Given the description of an element on the screen output the (x, y) to click on. 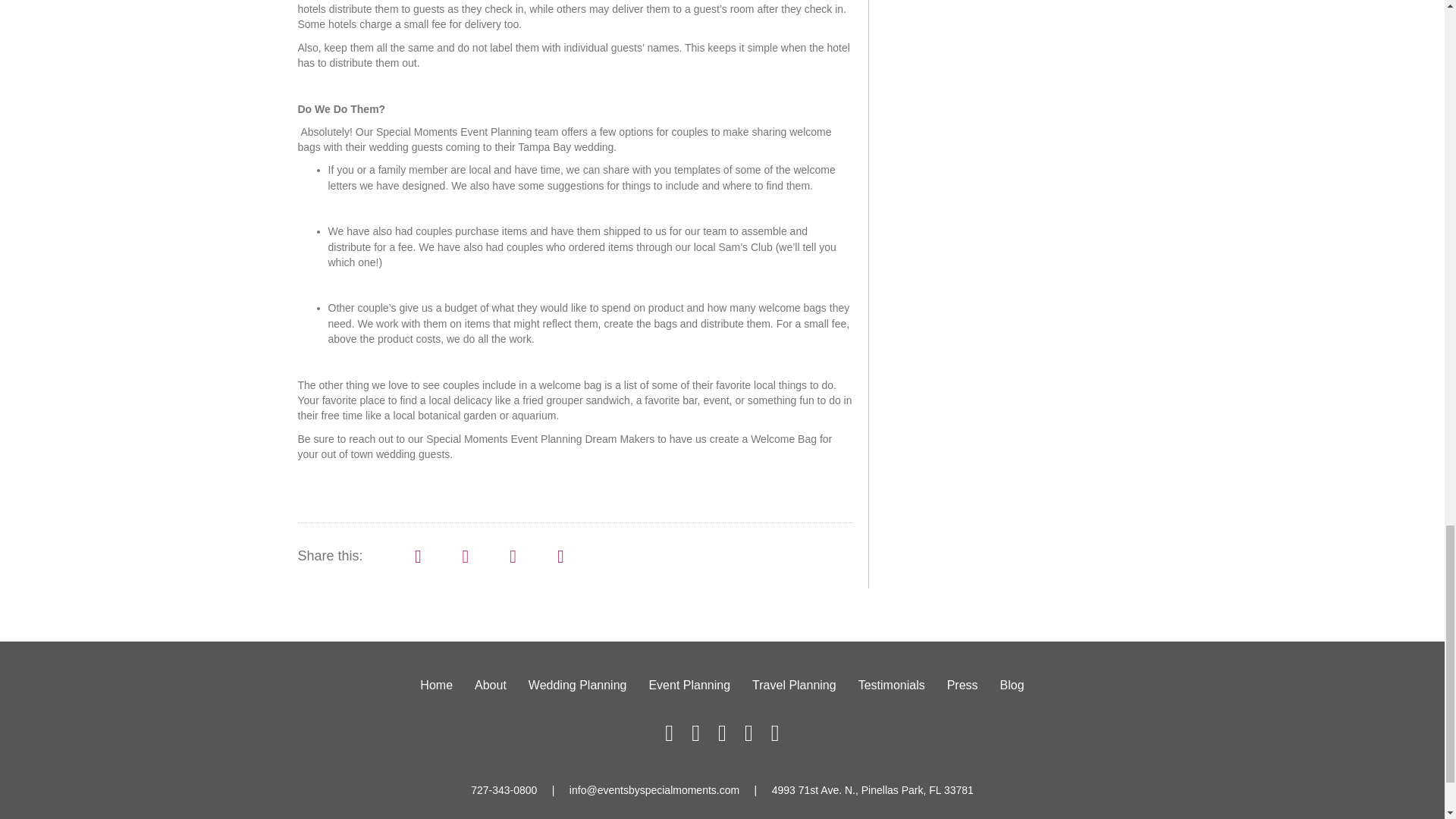
Home (436, 685)
About (490, 685)
Travel Planning (794, 685)
Event Planning (689, 685)
Wedding Planning (577, 685)
